Given the description of an element on the screen output the (x, y) to click on. 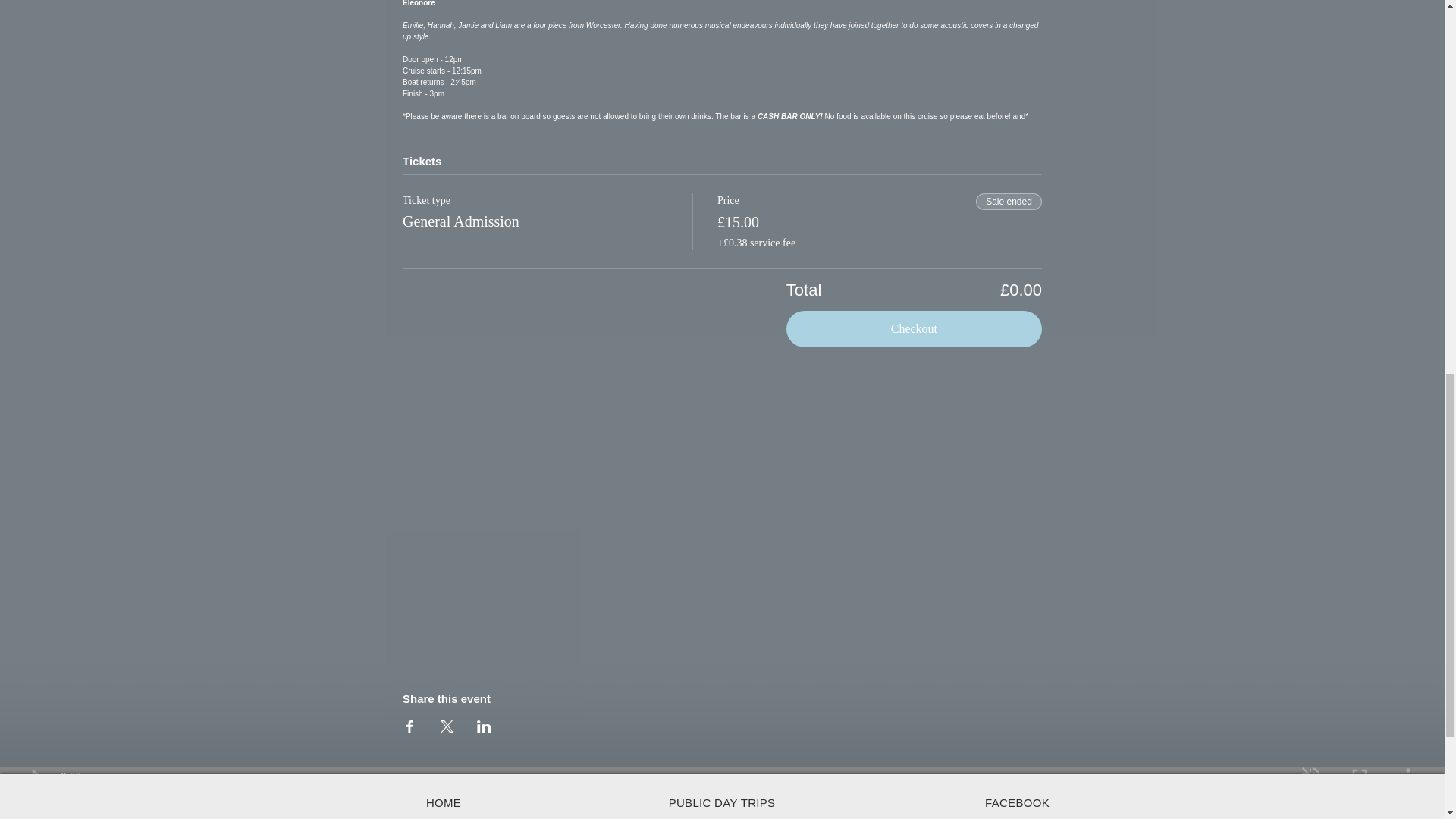
Checkout (914, 329)
HOME (443, 802)
PUBLIC DAY TRIPS (722, 802)
FACEBOOK (1017, 802)
